Given the description of an element on the screen output the (x, y) to click on. 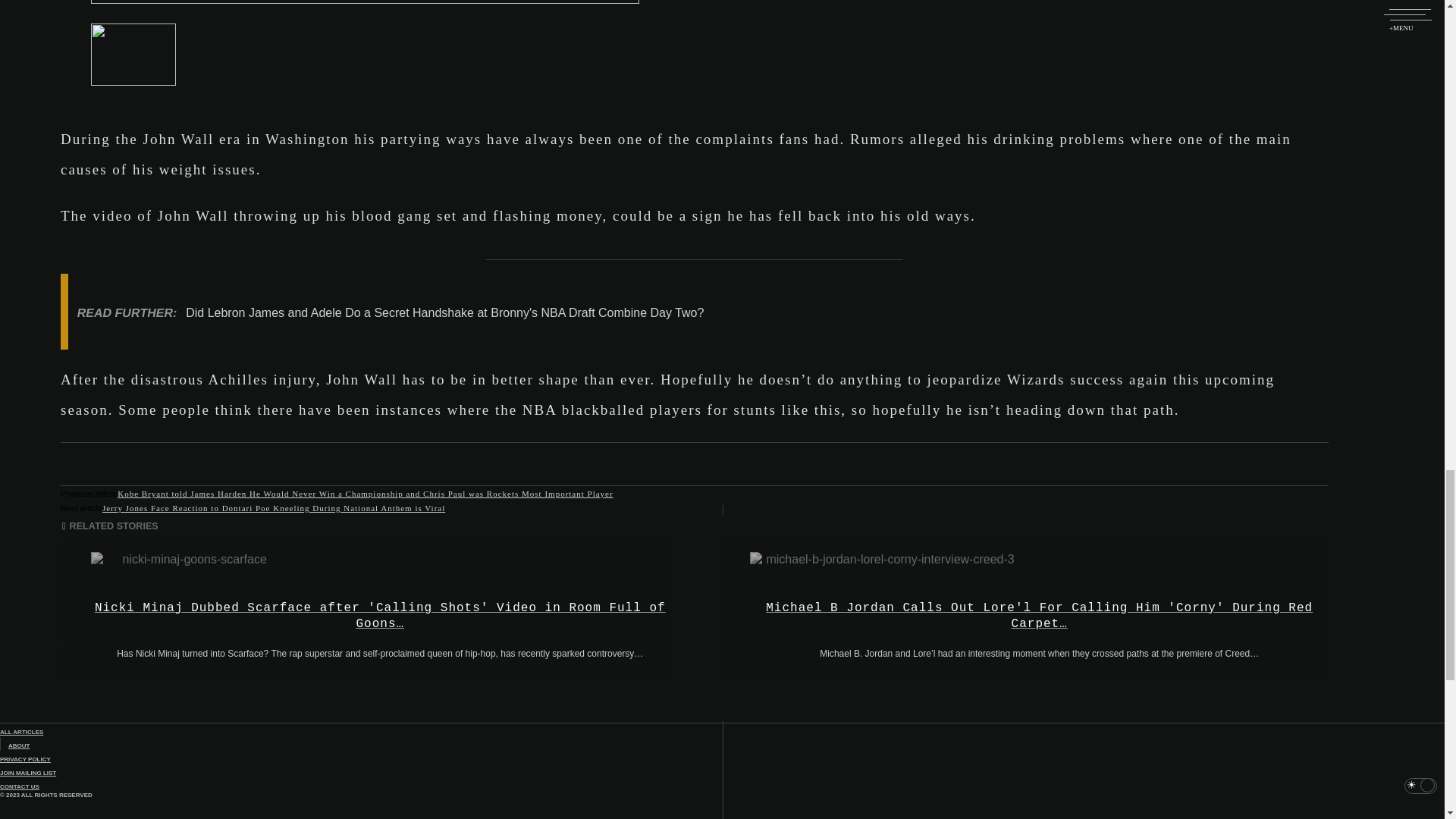
JOIN MAILING LIST (28, 772)
ALL ARTICLES (21, 731)
ABOUT (18, 745)
PRIVACY POLICY (25, 758)
